Given the description of an element on the screen output the (x, y) to click on. 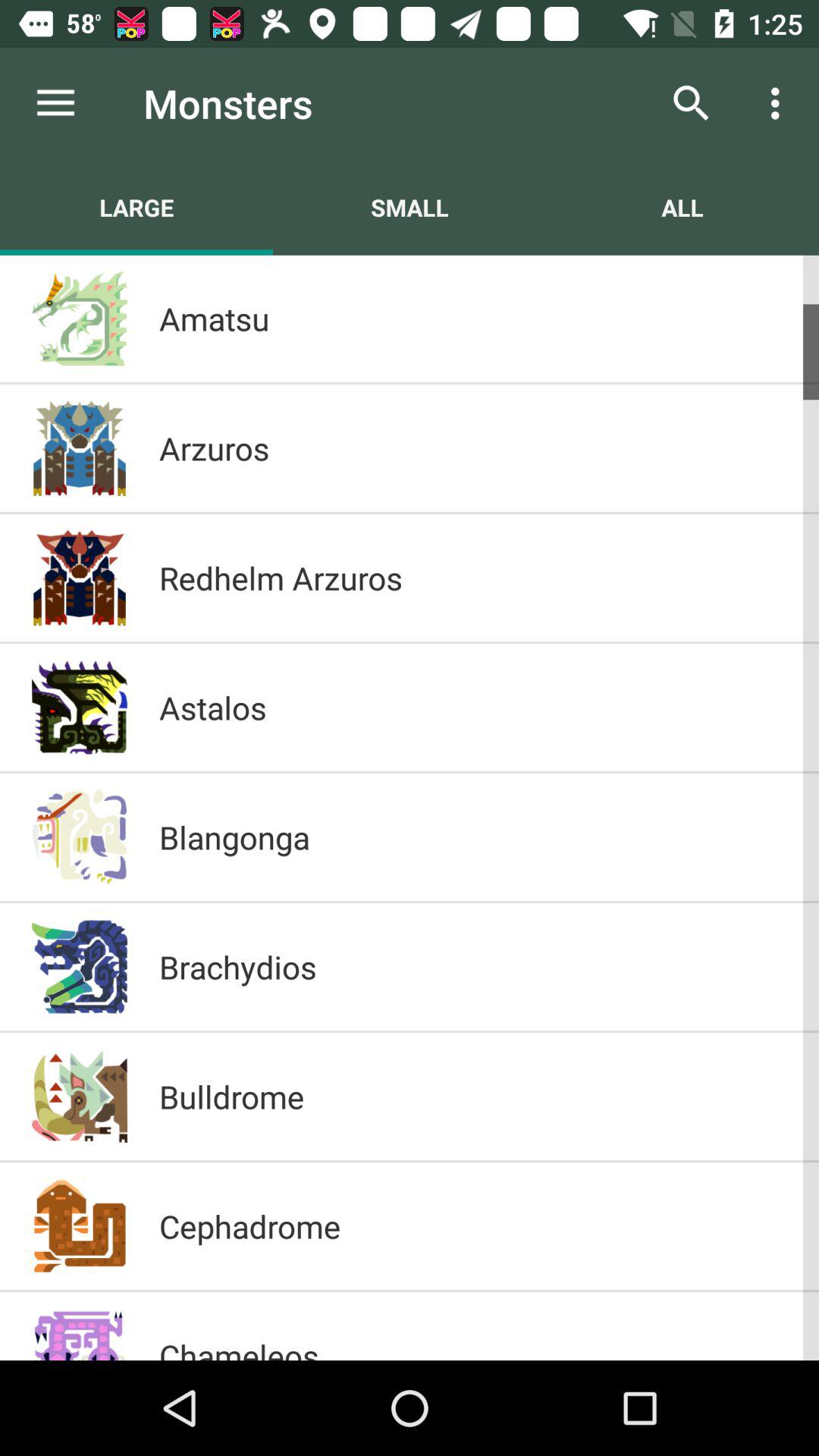
turn off item next to small item (136, 207)
